Given the description of an element on the screen output the (x, y) to click on. 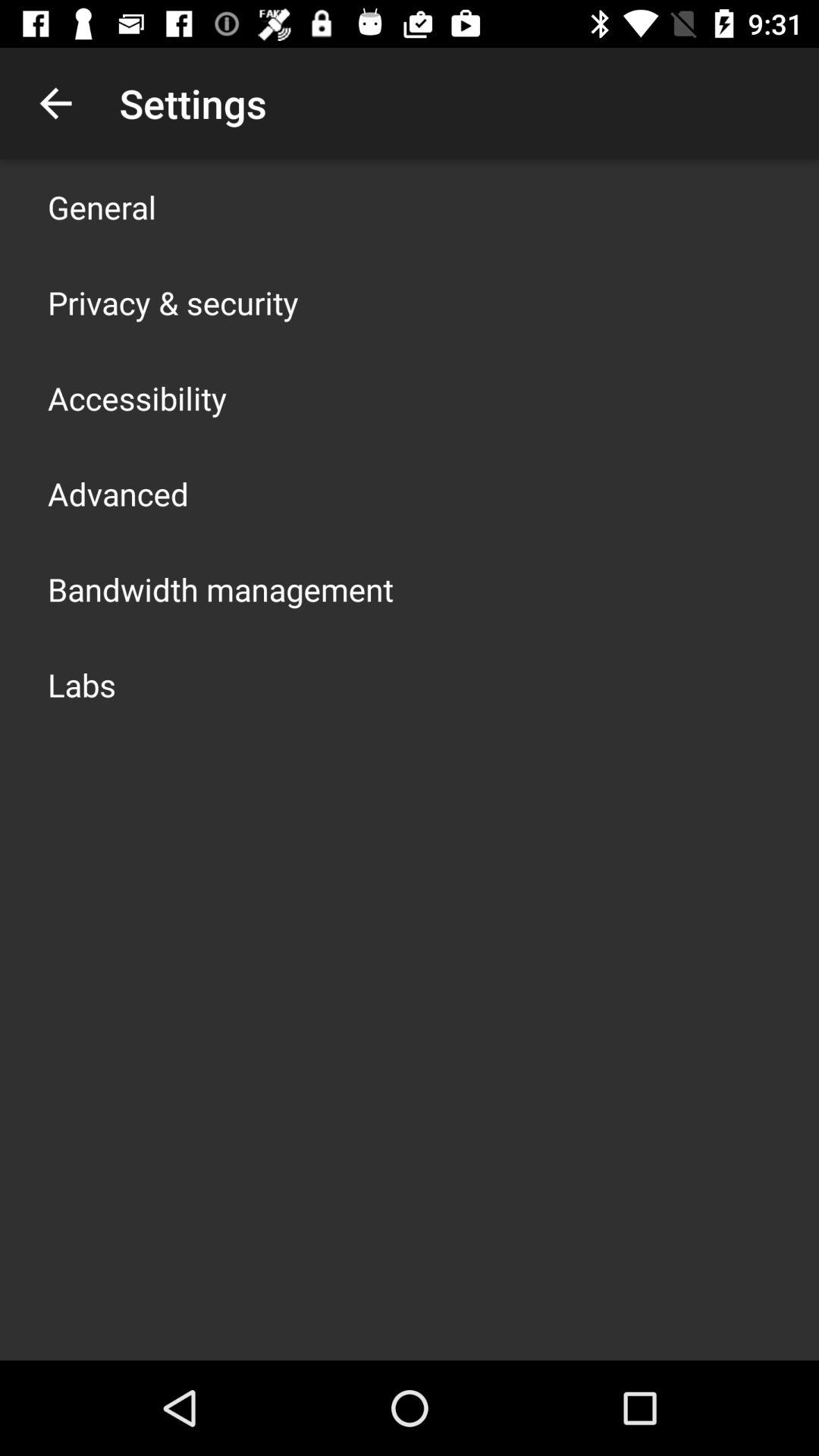
scroll to bandwidth management app (220, 588)
